Given the description of an element on the screen output the (x, y) to click on. 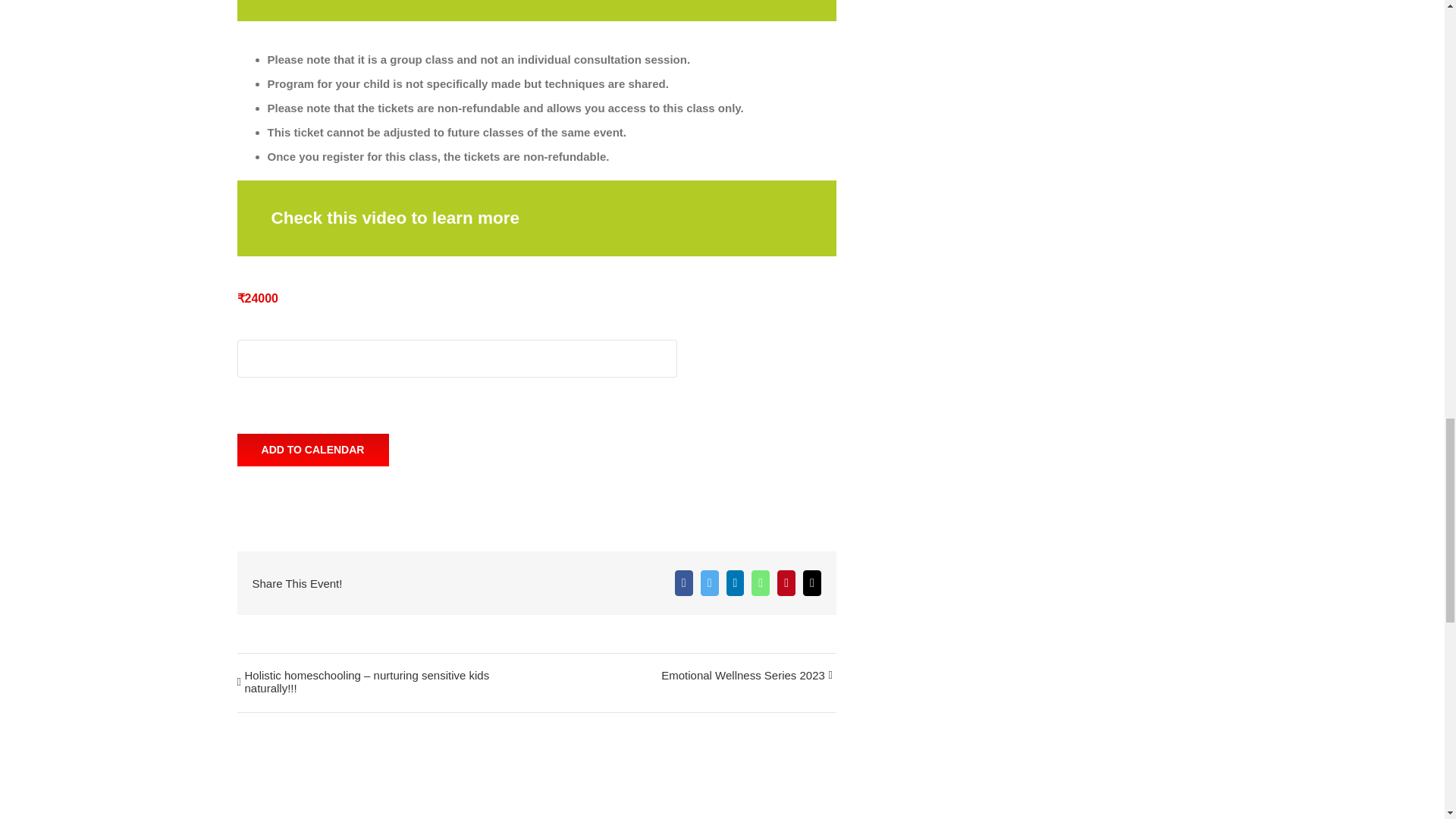
Emotional Wellness Series 2023 (738, 676)
Check this video to learn more (394, 217)
ADD TO CALENDAR (313, 449)
Check this video to learn more (394, 217)
